Given the description of an element on the screen output the (x, y) to click on. 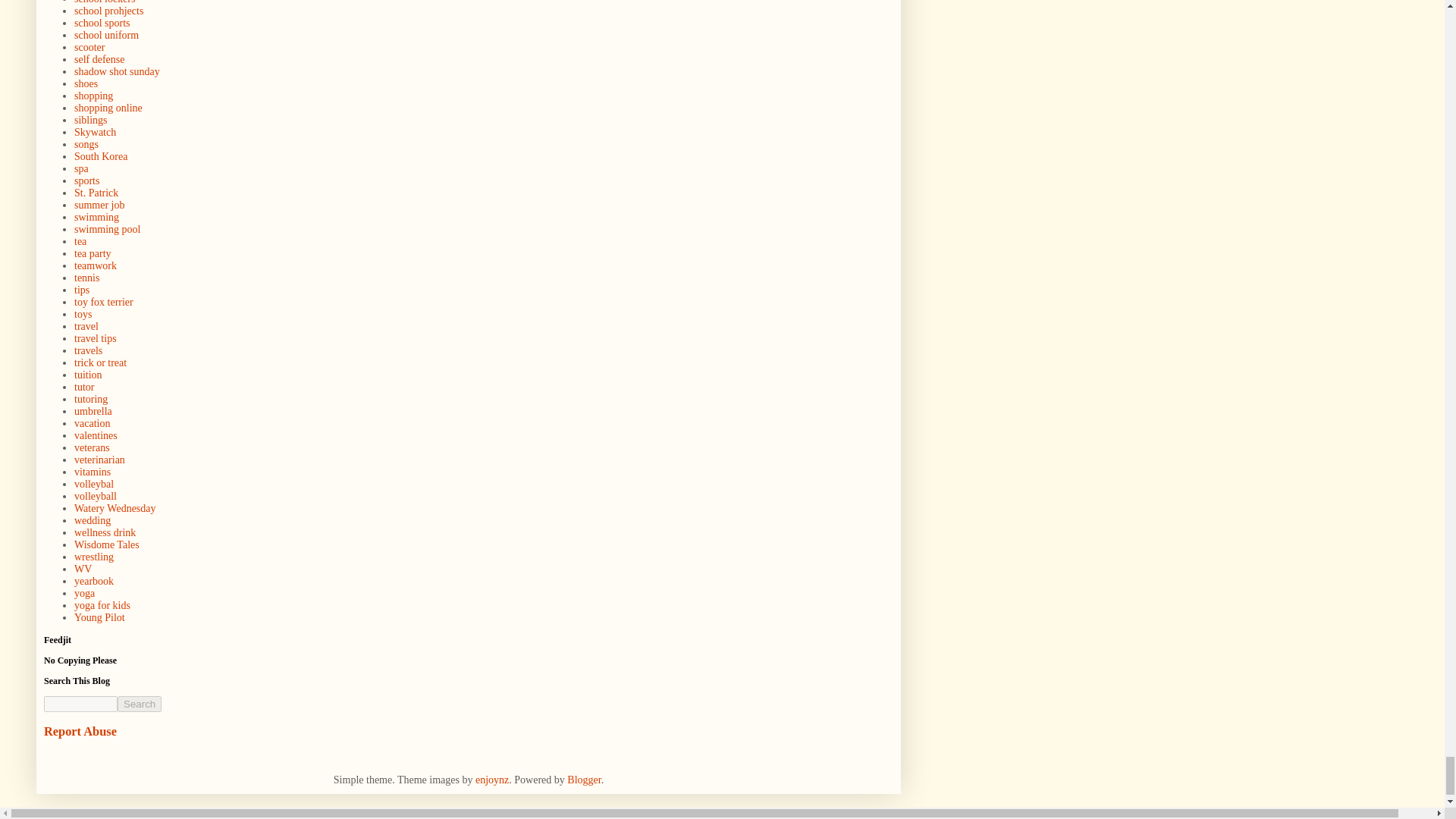
search (139, 703)
Search (139, 703)
Search (139, 703)
search (80, 703)
